Given the description of an element on the screen output the (x, y) to click on. 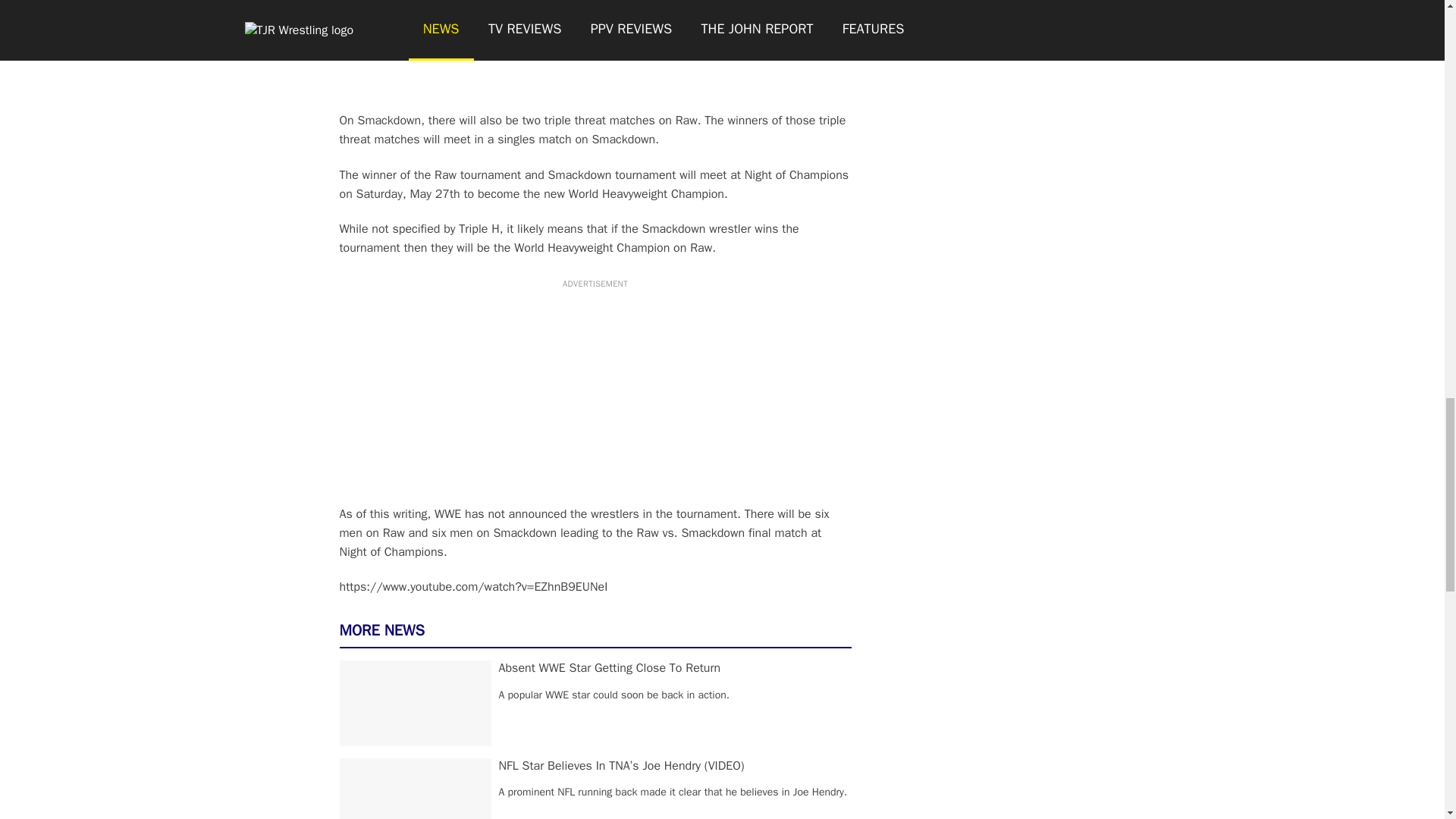
Absent WWE Star Getting Close To Return (609, 667)
